Given the description of an element on the screen output the (x, y) to click on. 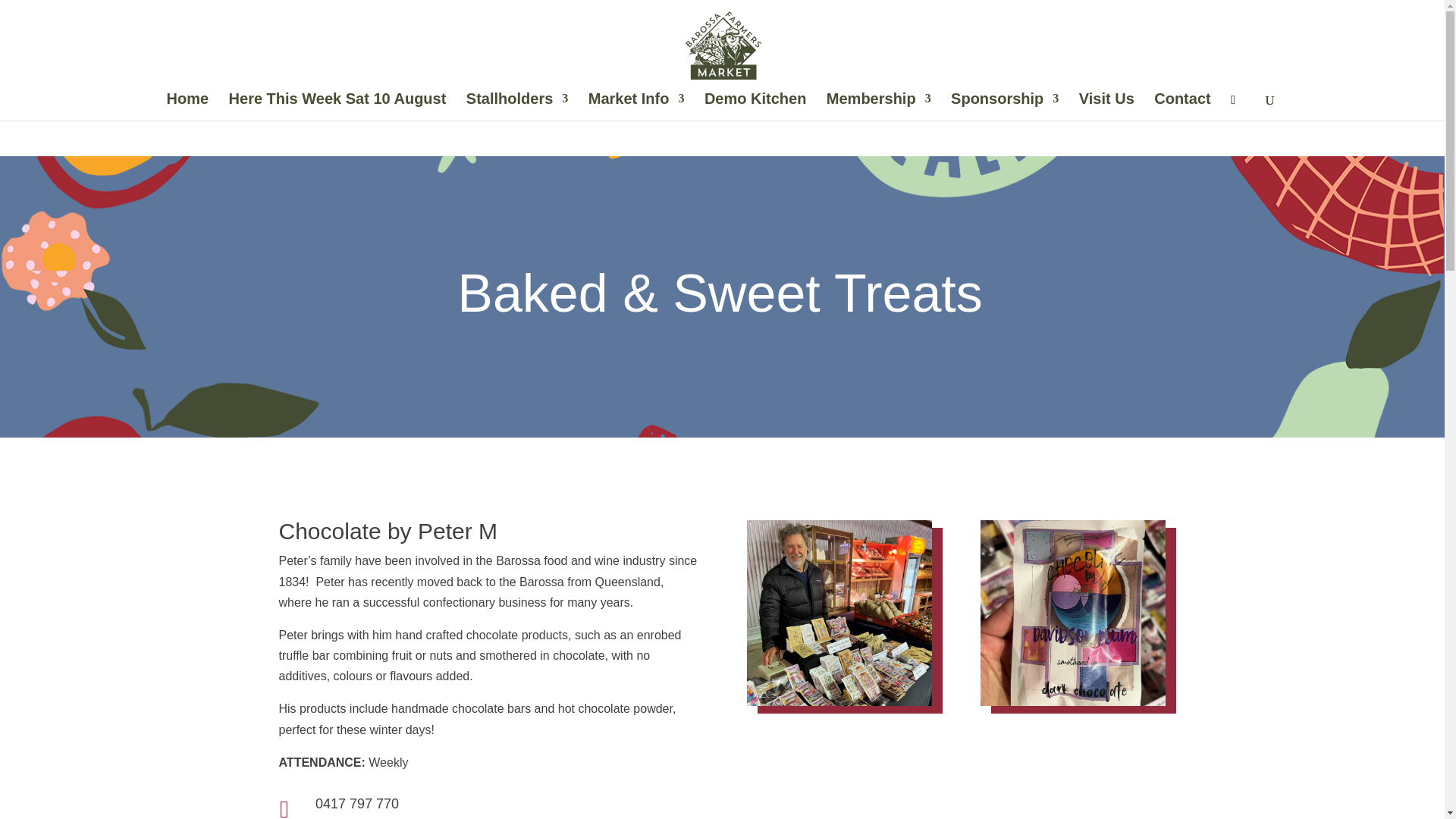
Home (188, 106)
Demo Kitchen (755, 106)
Market Info (636, 106)
Membership (879, 106)
Sponsorship (1004, 106)
Visit Us (1106, 106)
Contact (1181, 106)
Stallholders (516, 106)
Here This Week Sat 10 August (337, 106)
